Given the description of an element on the screen output the (x, y) to click on. 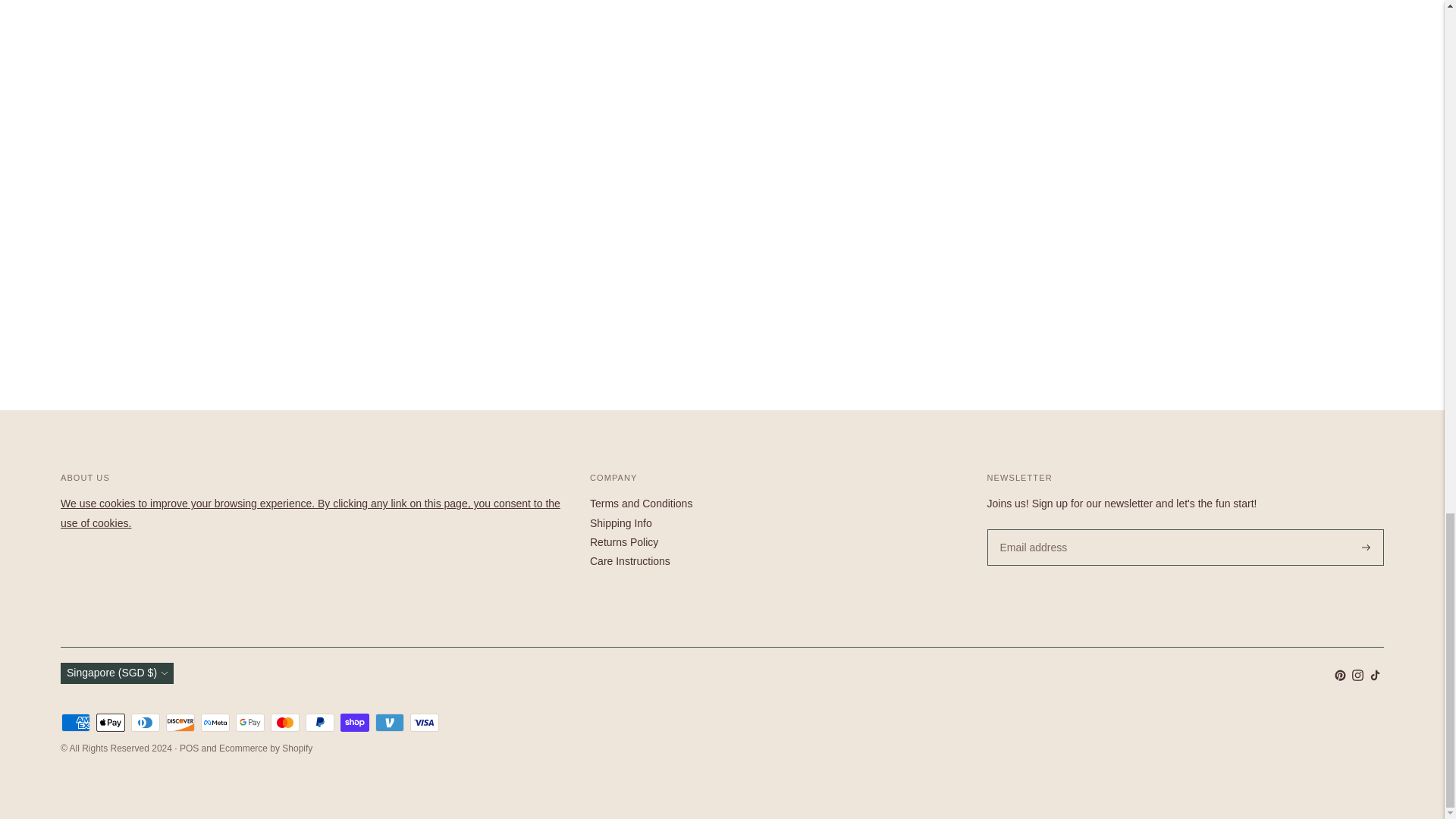
Chila Bags on Instagram (1357, 676)
Chila Bags on TikTok (1375, 676)
Chila Bags on Pinterest (1340, 676)
